Given the description of an element on the screen output the (x, y) to click on. 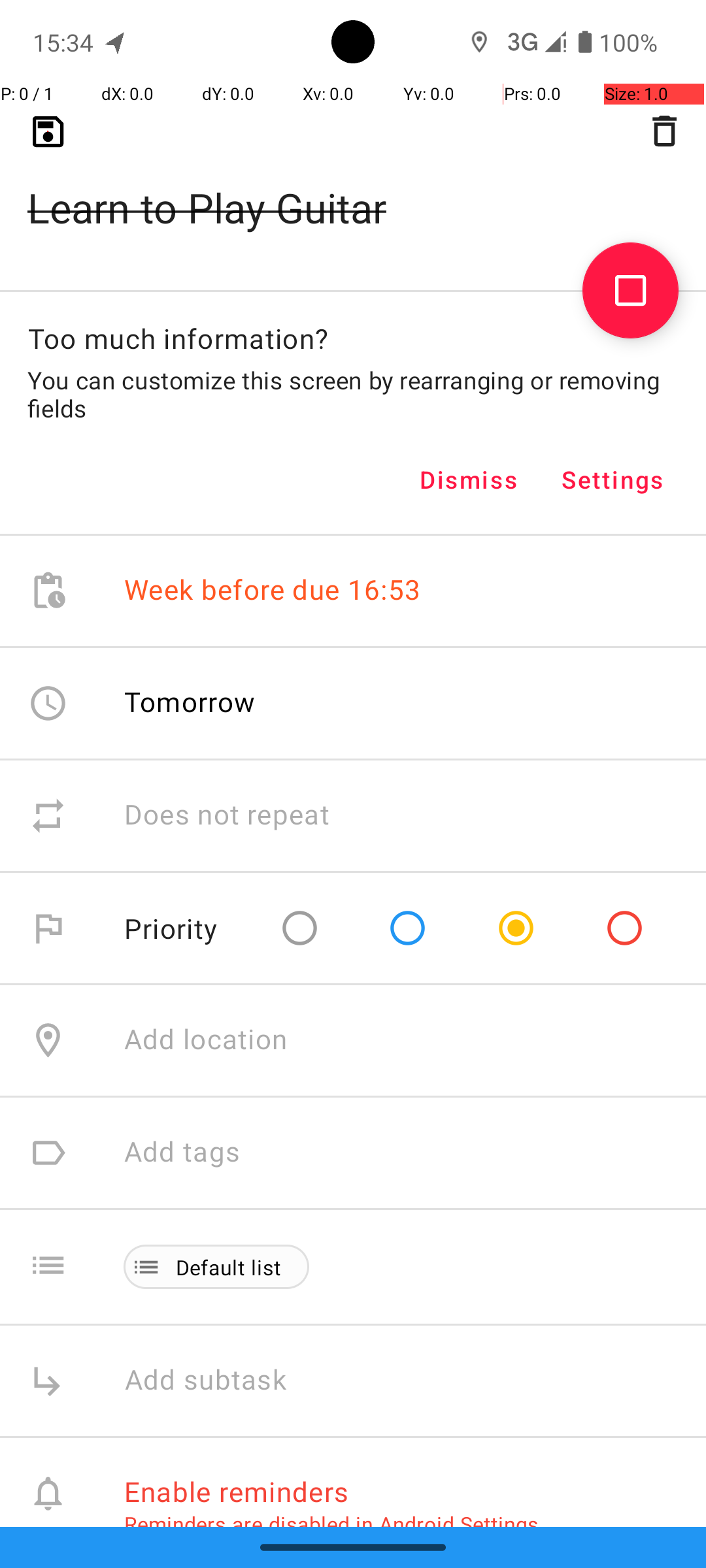
Week before due 16:53 Element type: android.widget.TextView (272, 590)
